Given the description of an element on the screen output the (x, y) to click on. 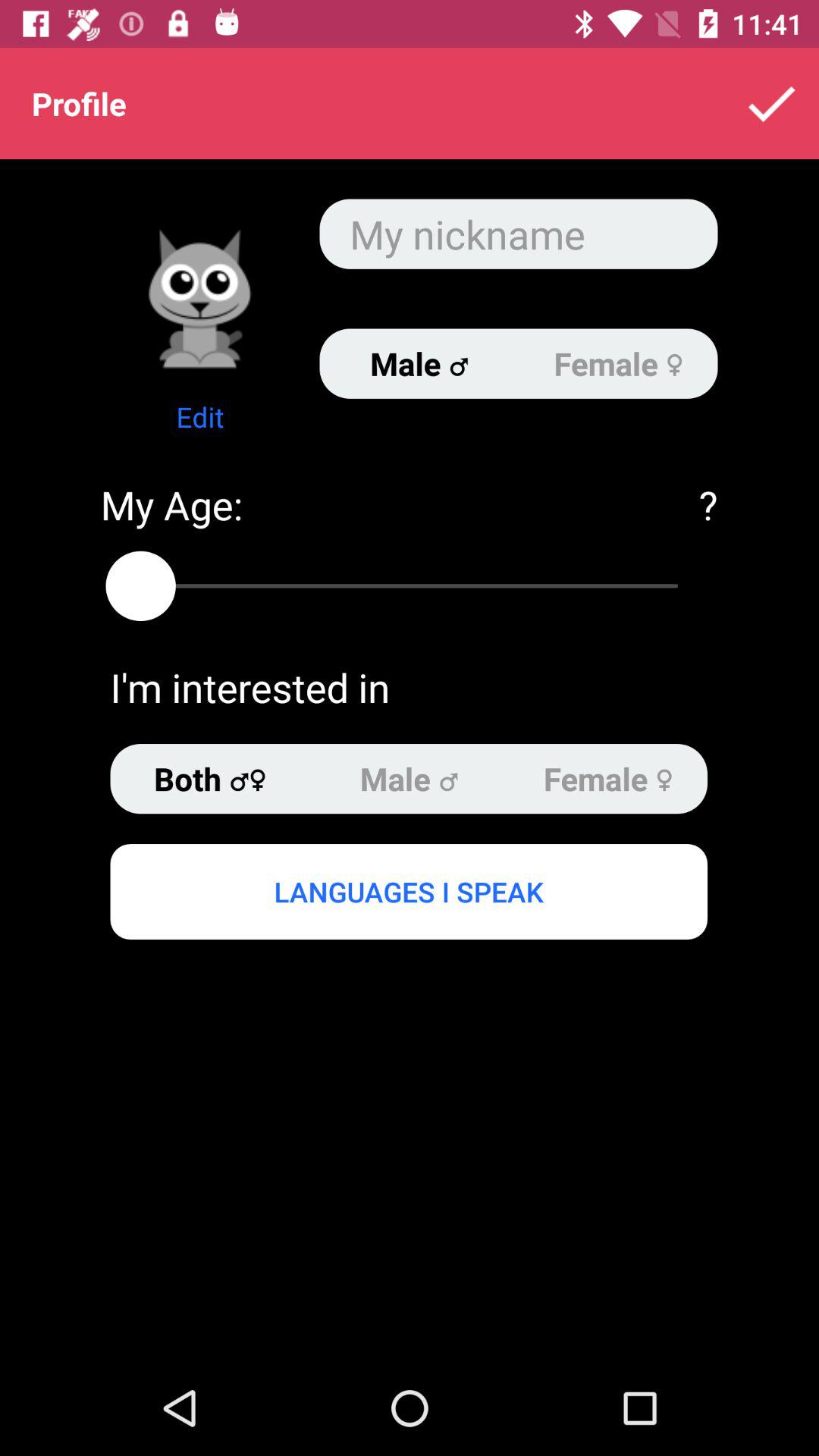
choose the edit item (199, 416)
